Given the description of an element on the screen output the (x, y) to click on. 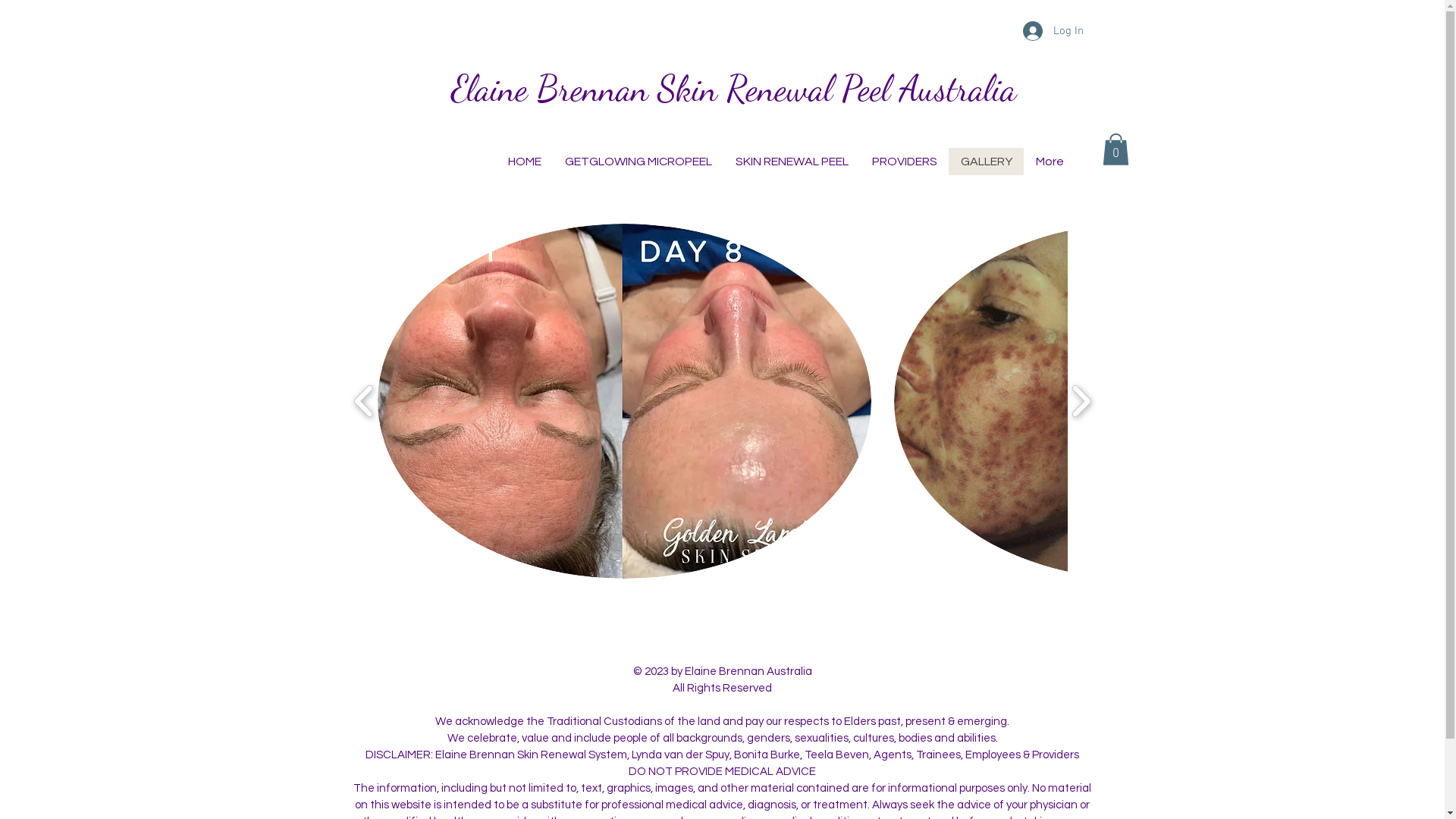
Log In Element type: text (1052, 30)
GALLERY Element type: text (984, 161)
HOME Element type: text (523, 161)
0 Element type: text (1115, 149)
GETGLOWING MICROPEEL Element type: text (637, 161)
SKIN RENEWAL PEEL Element type: text (791, 161)
PROVIDERS Element type: text (903, 161)
